Given the description of an element on the screen output the (x, y) to click on. 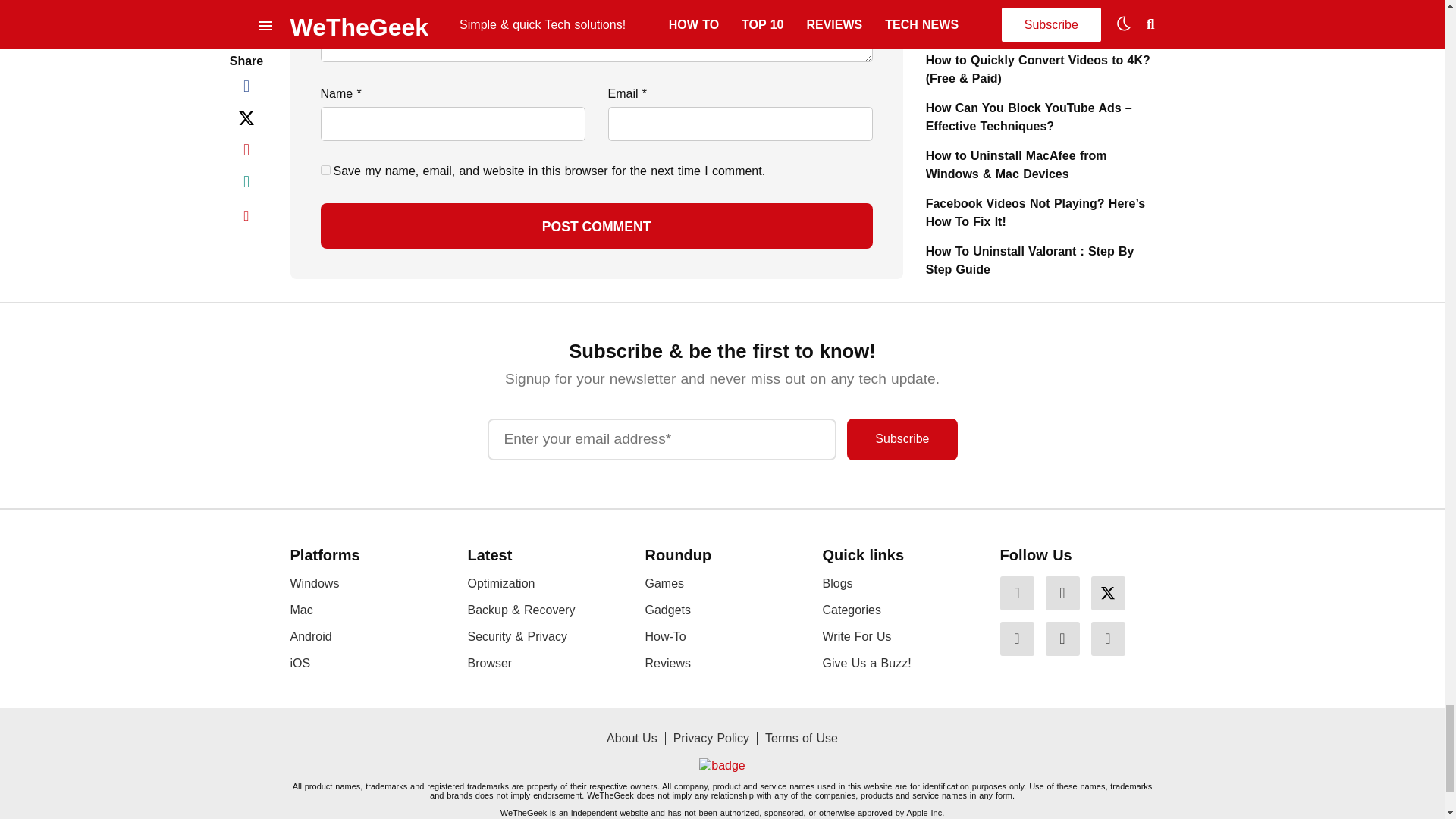
Subscribe (901, 439)
yes (325, 170)
Post Comment (596, 225)
